Given the description of an element on the screen output the (x, y) to click on. 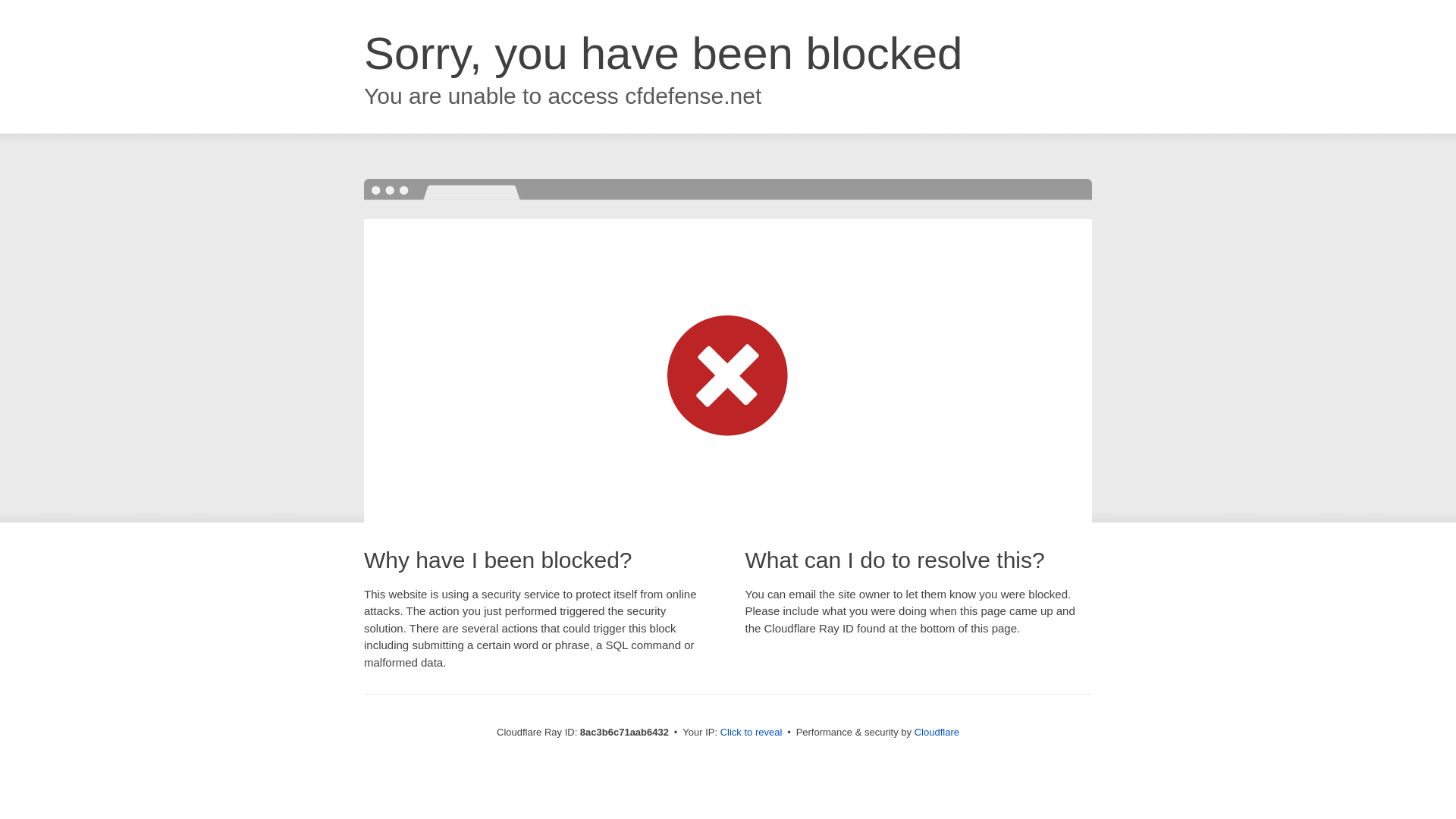
Cloudflare (936, 731)
Click to reveal (751, 732)
